Given the description of an element on the screen output the (x, y) to click on. 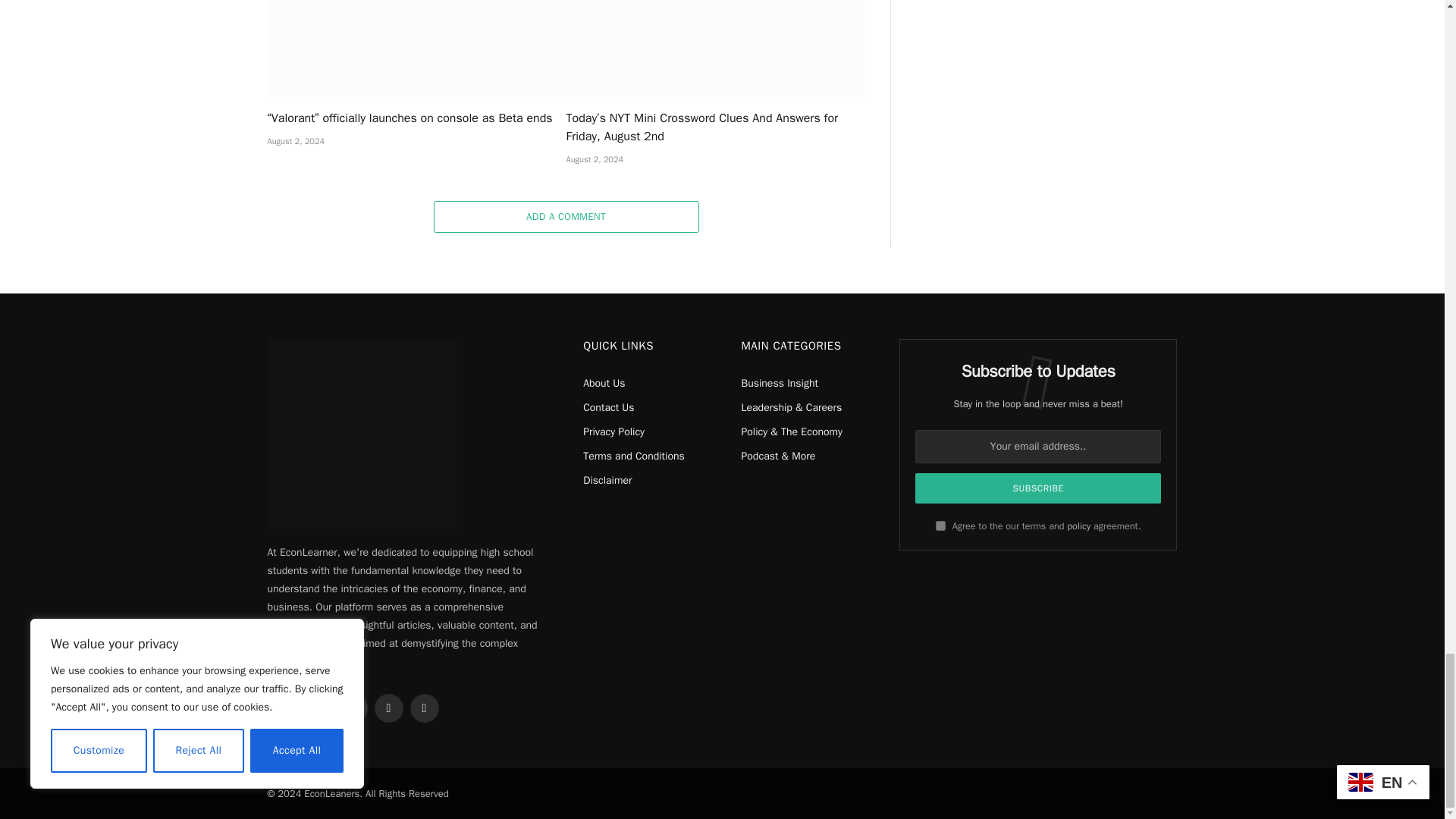
Subscribe (1038, 488)
on (940, 525)
